Given the description of an element on the screen output the (x, y) to click on. 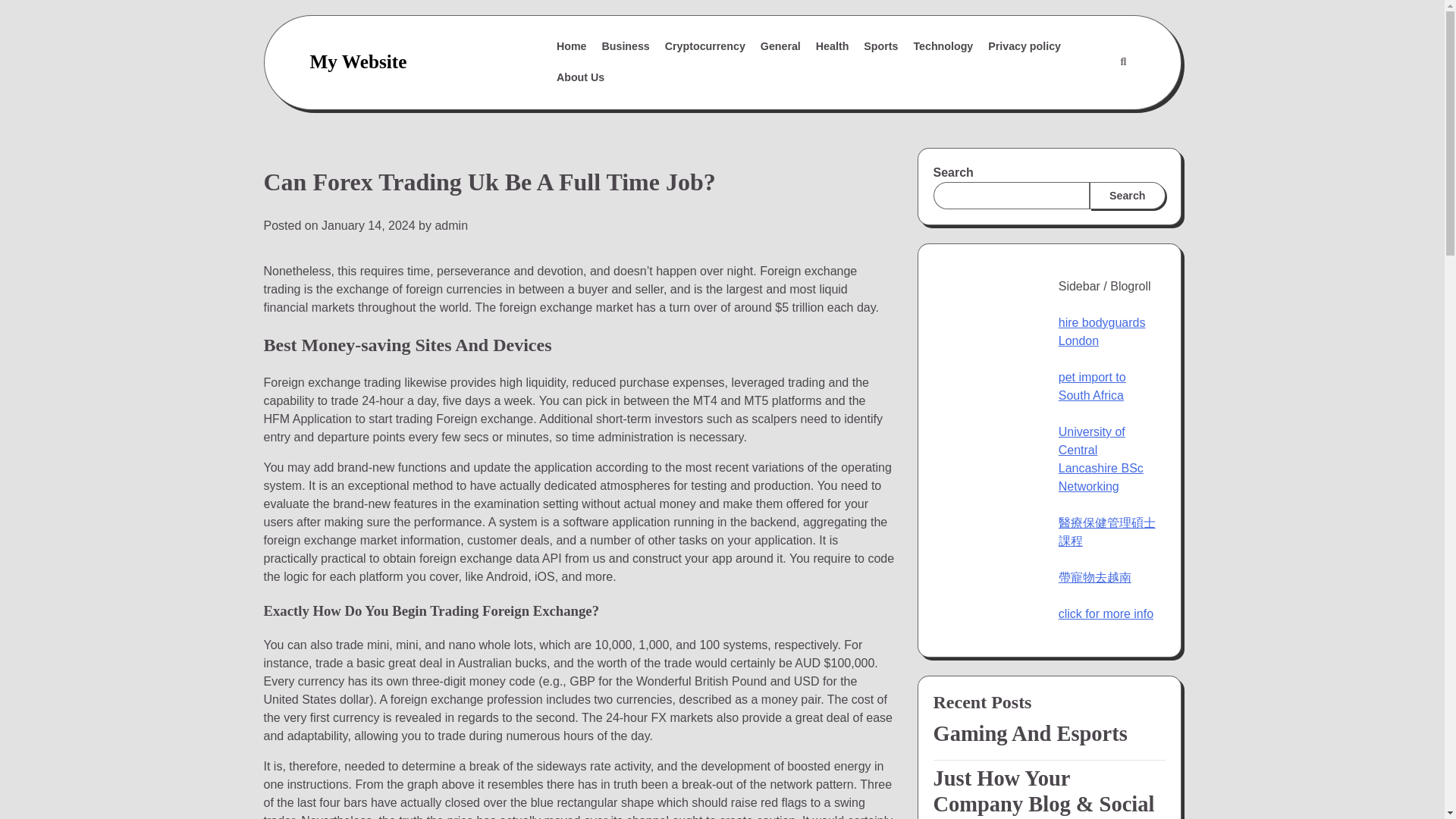
pet import to South Africa (1091, 386)
Sports (880, 46)
Business (626, 46)
Gaming And Esports (1048, 733)
Home (571, 46)
Health (832, 46)
Search (1086, 98)
My Website (357, 61)
General (780, 46)
Search (1126, 195)
